Given the description of an element on the screen output the (x, y) to click on. 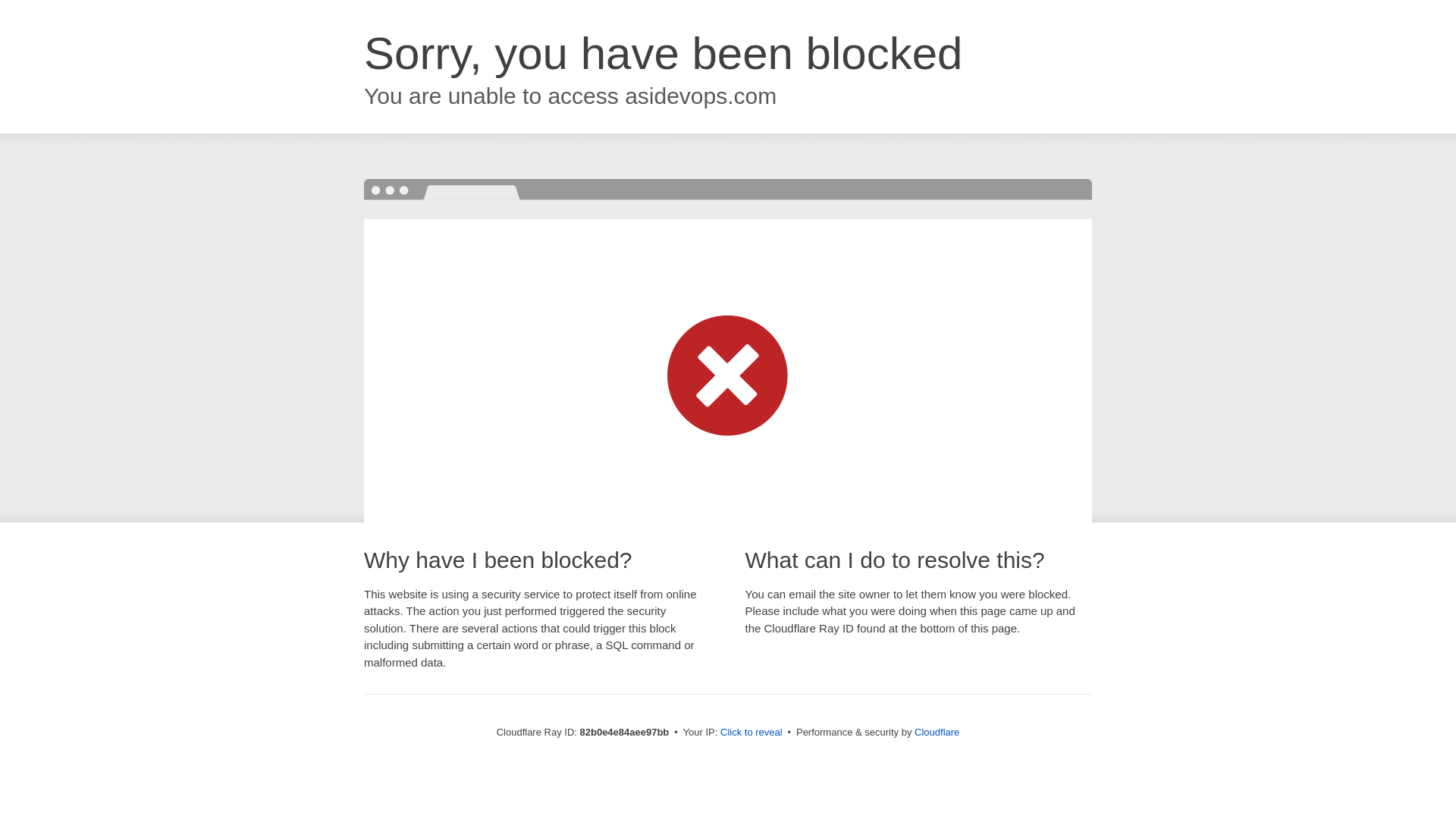
Click to reveal Element type: text (751, 732)
Cloudflare Element type: text (936, 731)
